Given the description of an element on the screen output the (x, y) to click on. 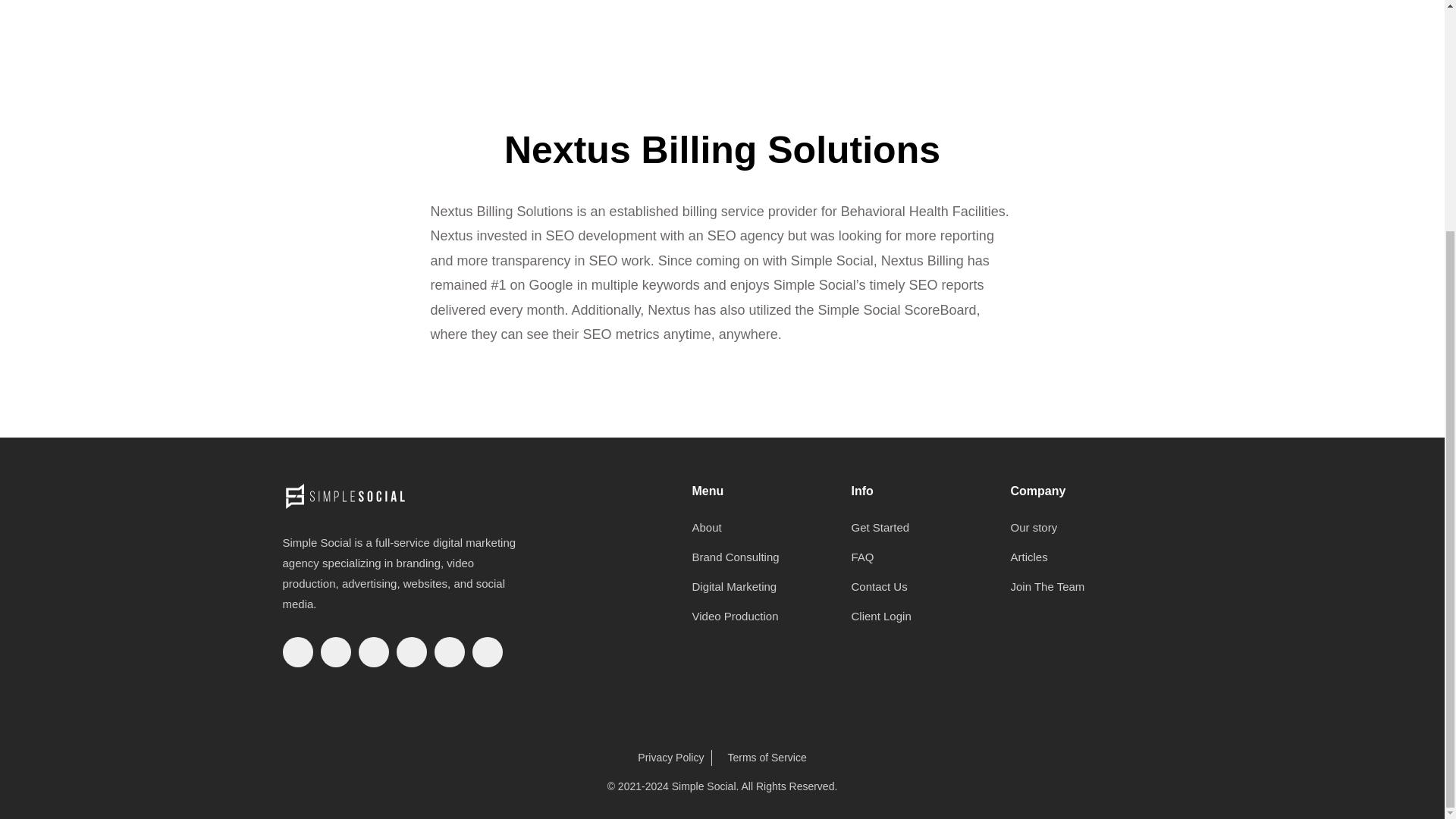
Terms of Service (766, 757)
Privacy Policy (670, 757)
About (750, 532)
Digital Marketing (750, 591)
Contact Us (909, 591)
simple social white logo (344, 496)
Join The Team (1080, 591)
Client Login (909, 620)
Brand Consulting (750, 561)
Articles (1080, 561)
